Given the description of an element on the screen output the (x, y) to click on. 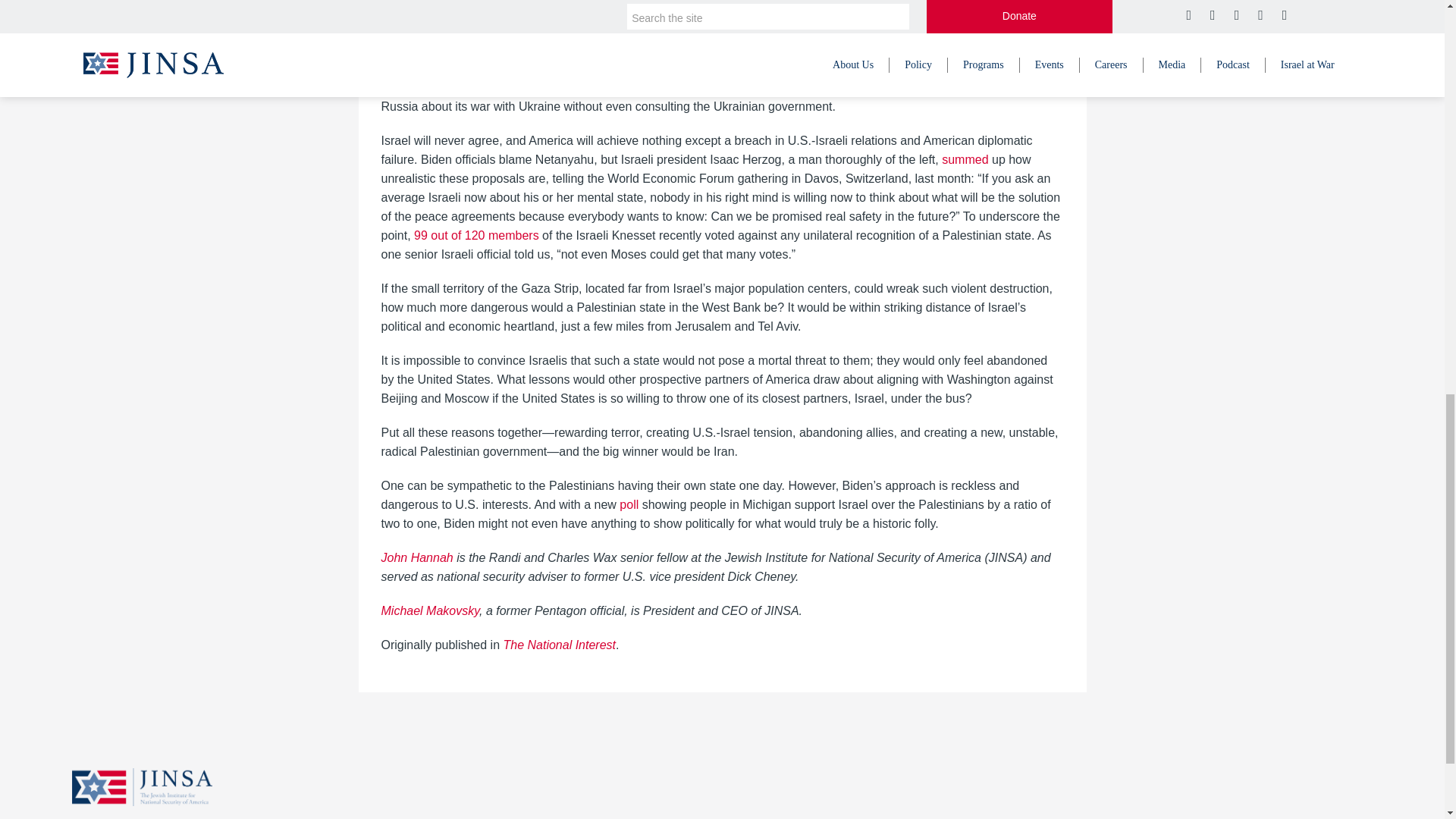
indicate (507, 33)
99 out of 120 members (475, 235)
polls (470, 33)
John Hannah (416, 557)
Michael Makovsky (429, 610)
poll (805, 15)
summed (963, 159)
JINSA (141, 785)
poll (627, 504)
The National Interest (558, 644)
